Given the description of an element on the screen output the (x, y) to click on. 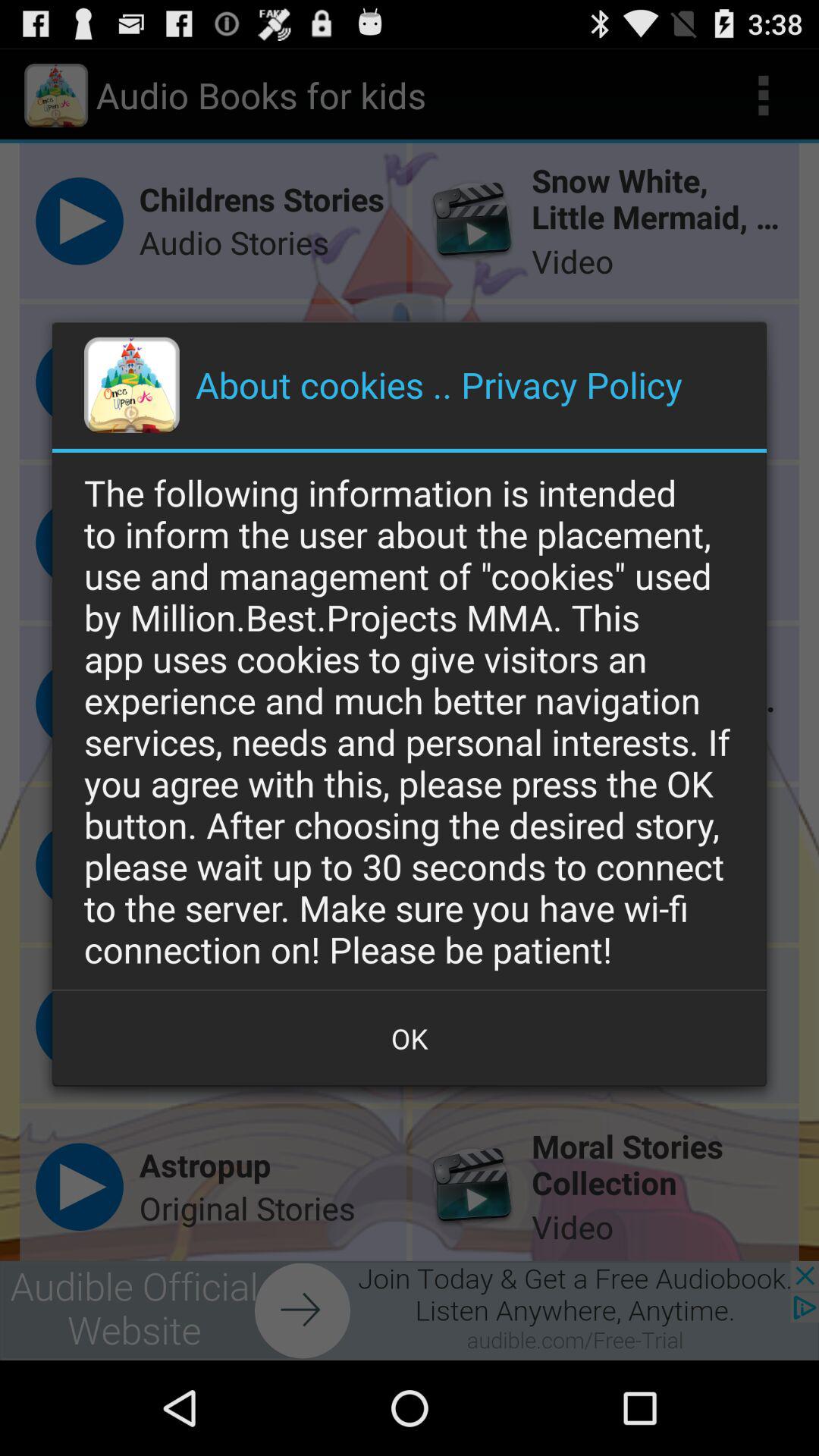
open ok (409, 1038)
